Given the description of an element on the screen output the (x, y) to click on. 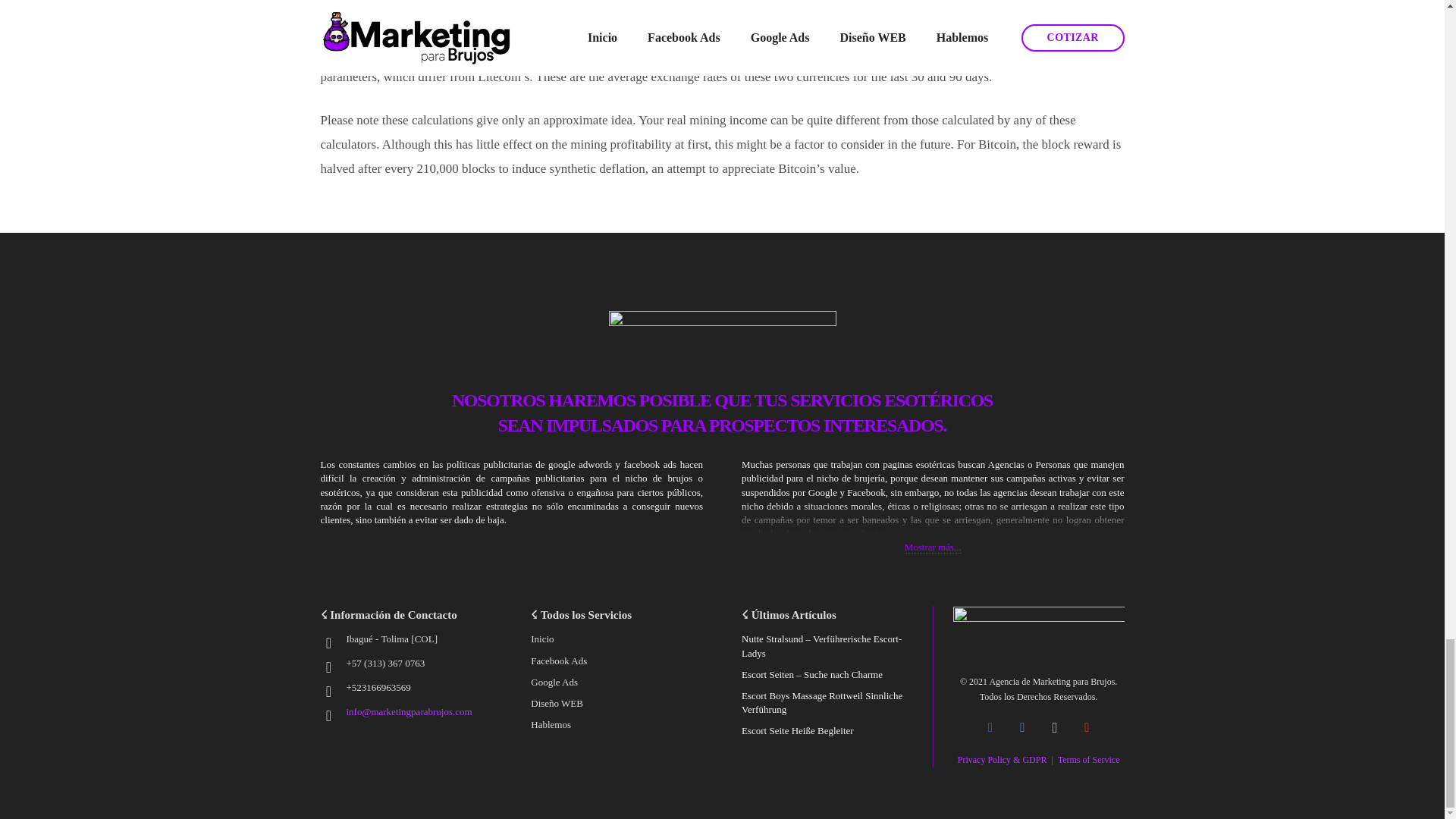
Instagram (1055, 727)
Hablemos (550, 724)
Google Ads (554, 681)
Google (1086, 727)
Inicio (542, 638)
Facebook Ads (558, 660)
Terms of Service (1088, 759)
Twitter (1022, 727)
Facebook (990, 727)
